Given the description of an element on the screen output the (x, y) to click on. 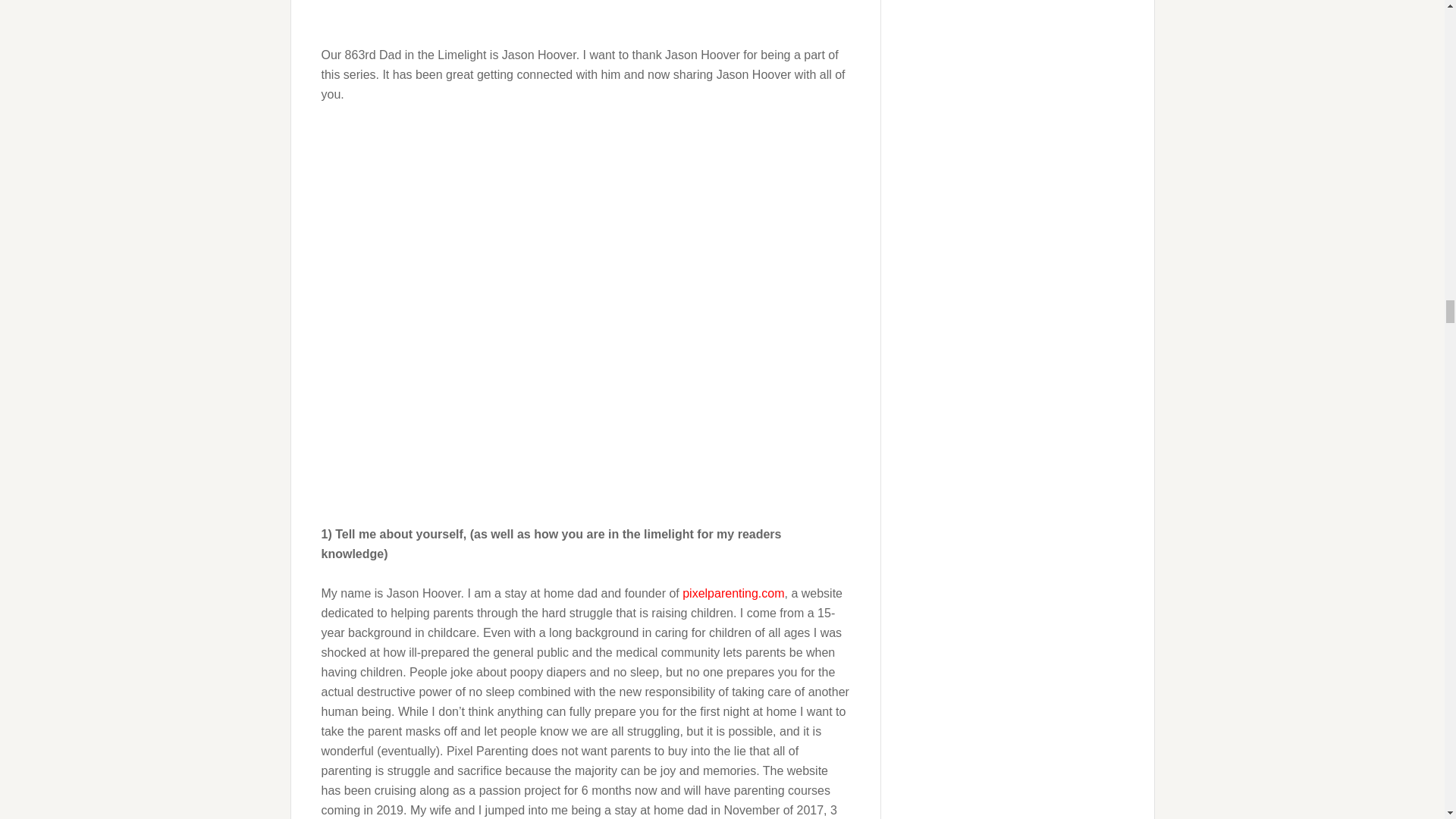
Dads in the Limelight Series (585, 15)
